Given the description of an element on the screen output the (x, y) to click on. 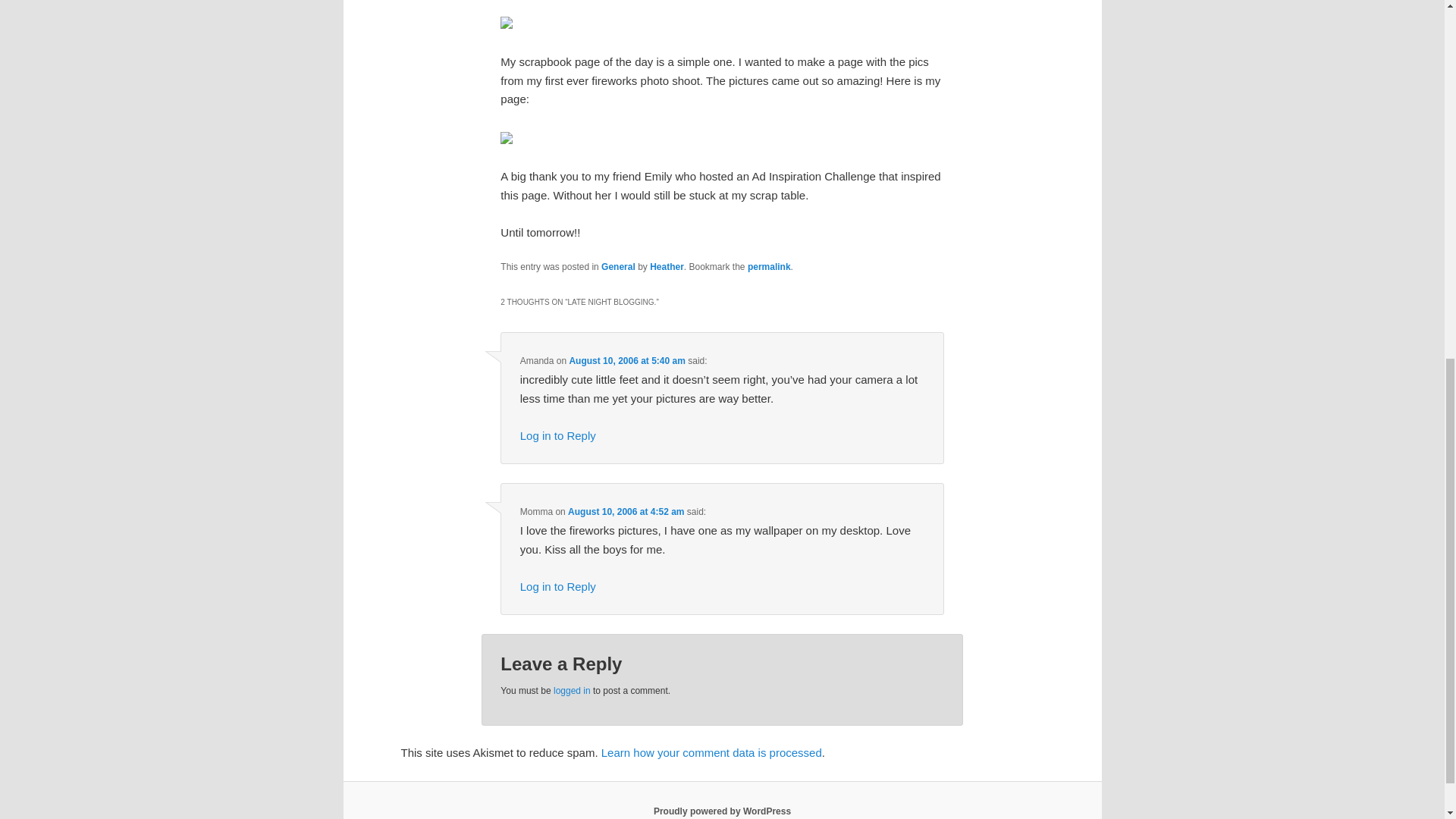
Learn how your comment data is processed (711, 752)
Proudly powered by WordPress (721, 810)
logged in (572, 690)
General (617, 266)
Permalink to Late night blogging. (769, 266)
August 10, 2006 at 5:40 am (626, 360)
permalink (769, 266)
Log in to Reply (557, 435)
Heather (666, 266)
August 10, 2006 at 4:52 am (625, 511)
Semantic Personal Publishing Platform (721, 810)
Log in to Reply (557, 585)
